Given the description of an element on the screen output the (x, y) to click on. 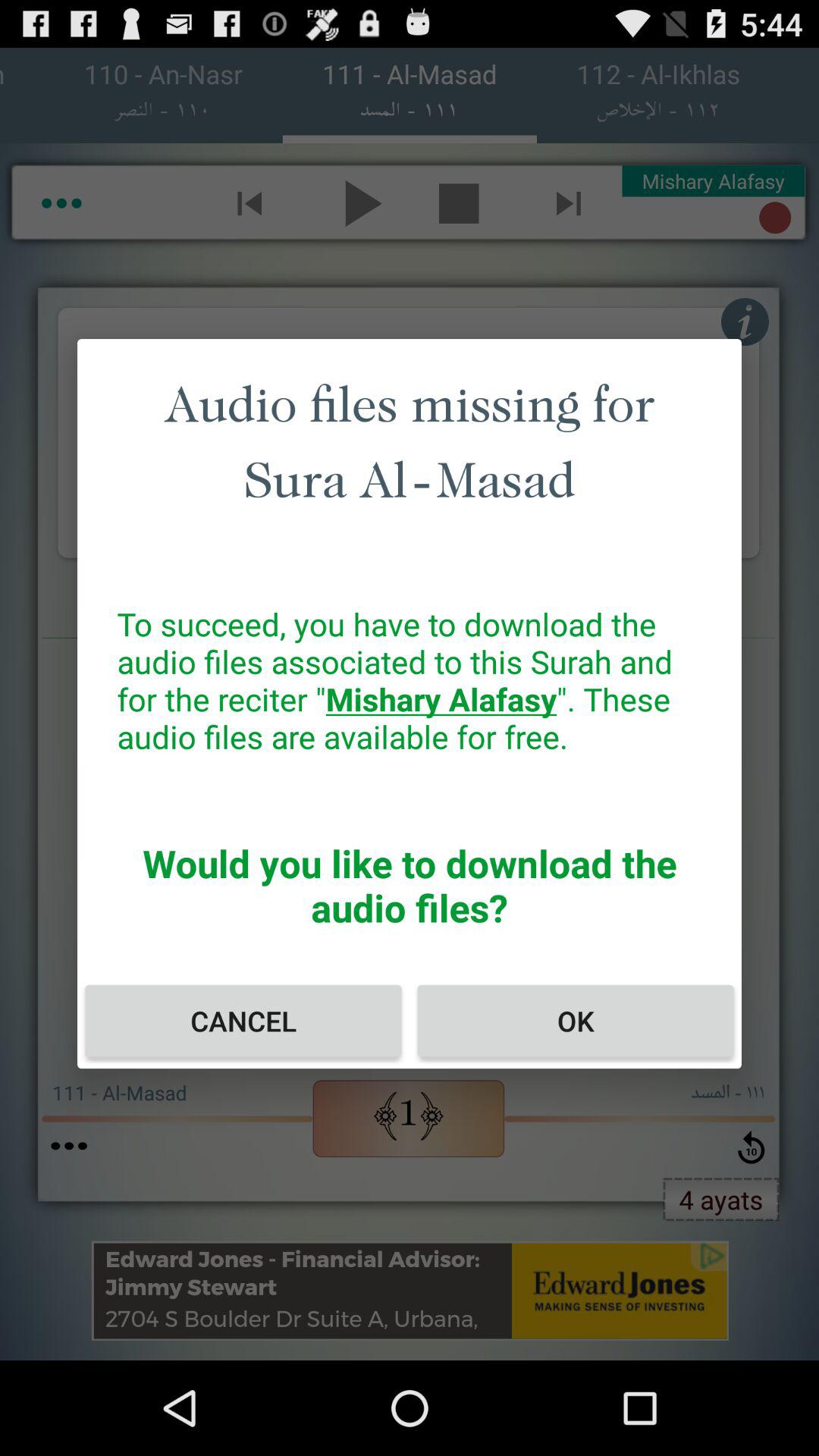
turn on cancel (243, 1020)
